Given the description of an element on the screen output the (x, y) to click on. 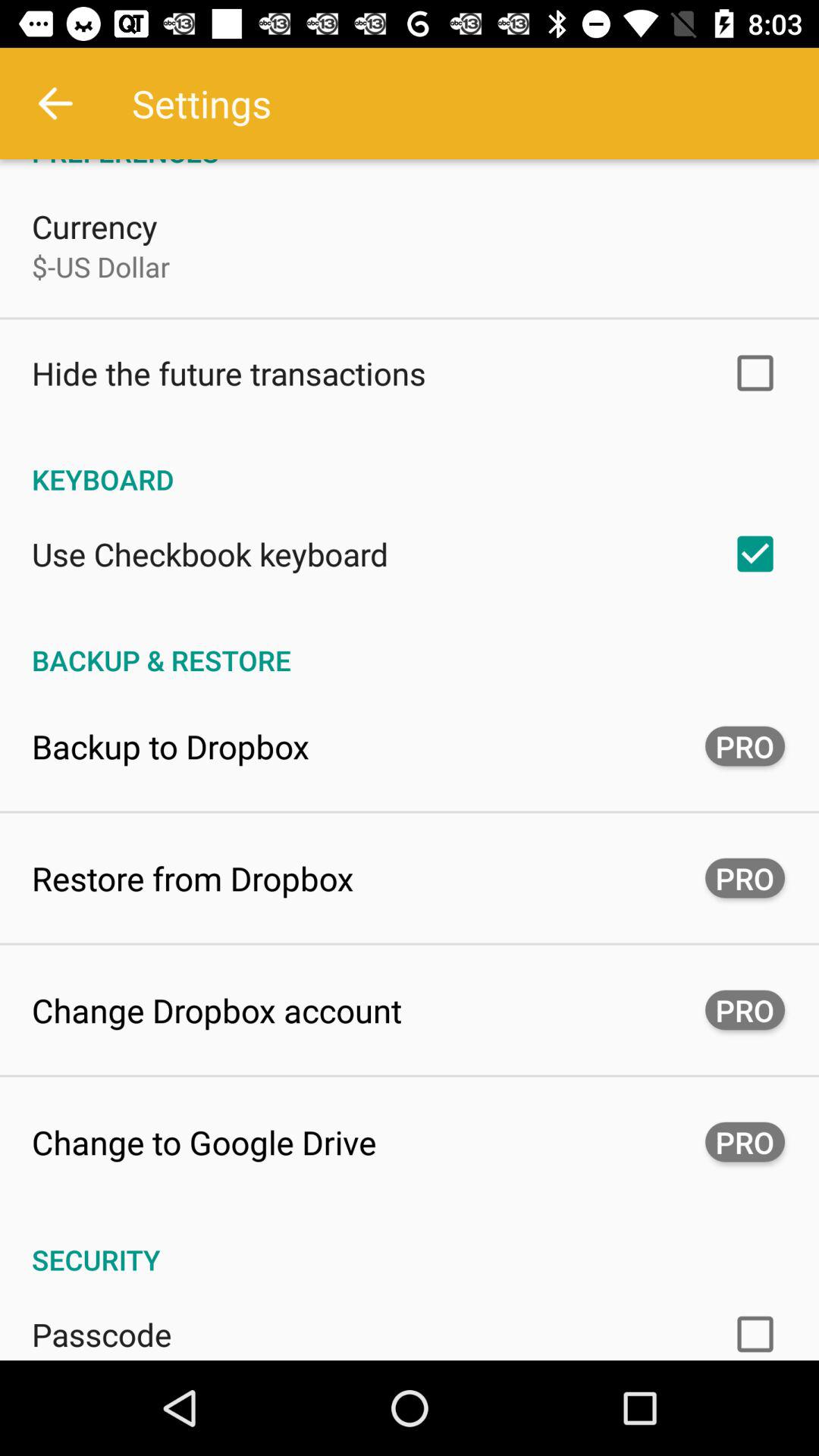
flip until the preferences (409, 164)
